Given the description of an element on the screen output the (x, y) to click on. 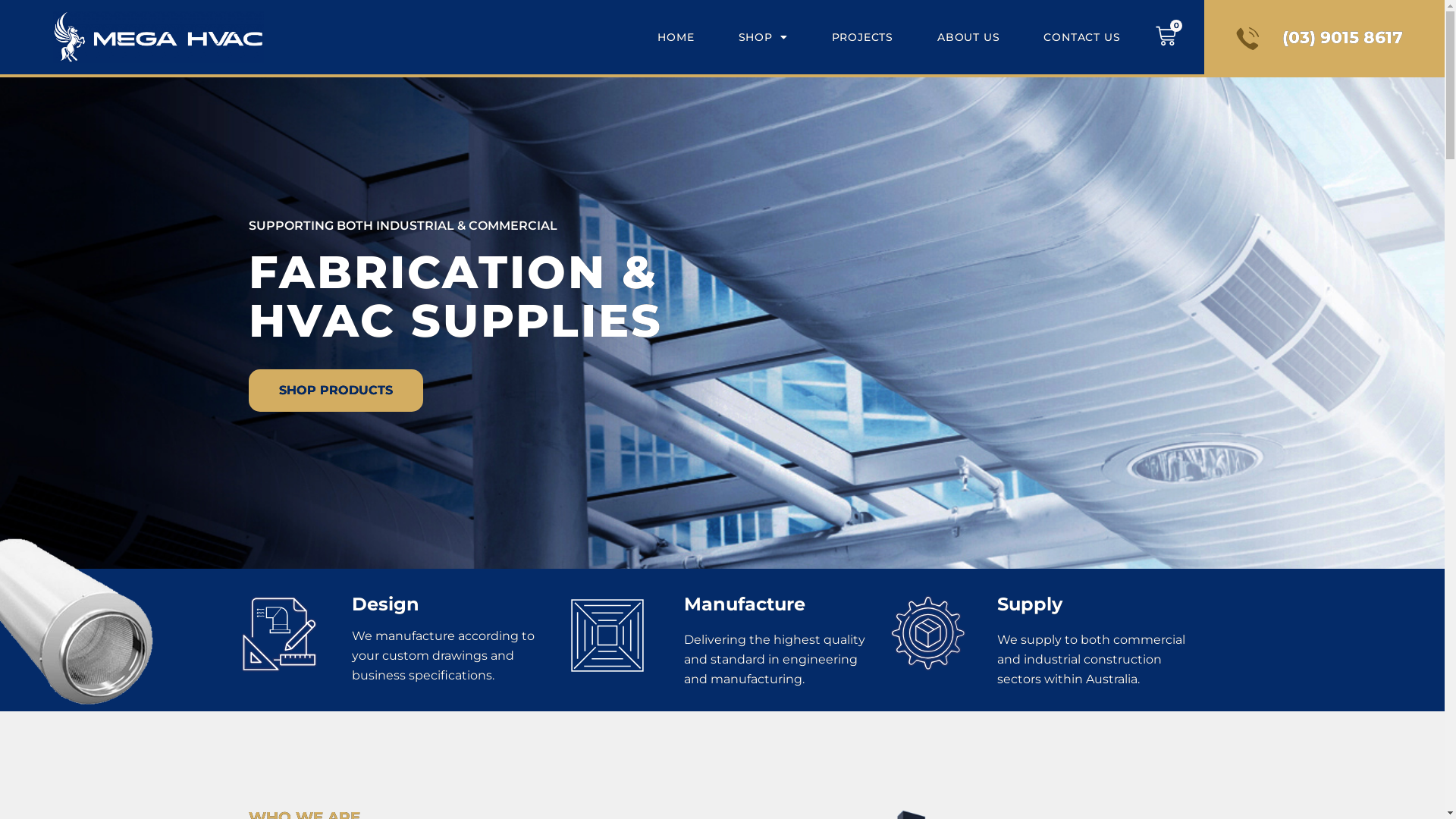
HOME Element type: text (675, 37)
SHOP Element type: text (762, 37)
0 Element type: text (1167, 37)
PROJECTS Element type: text (862, 37)
CONTACT US Element type: text (1072, 37)
SHOP PRODUCTS Element type: text (335, 390)
ABOUT US Element type: text (968, 37)
(03) 9015 8617 Element type: text (1316, 37)
